Given the description of an element on the screen output the (x, y) to click on. 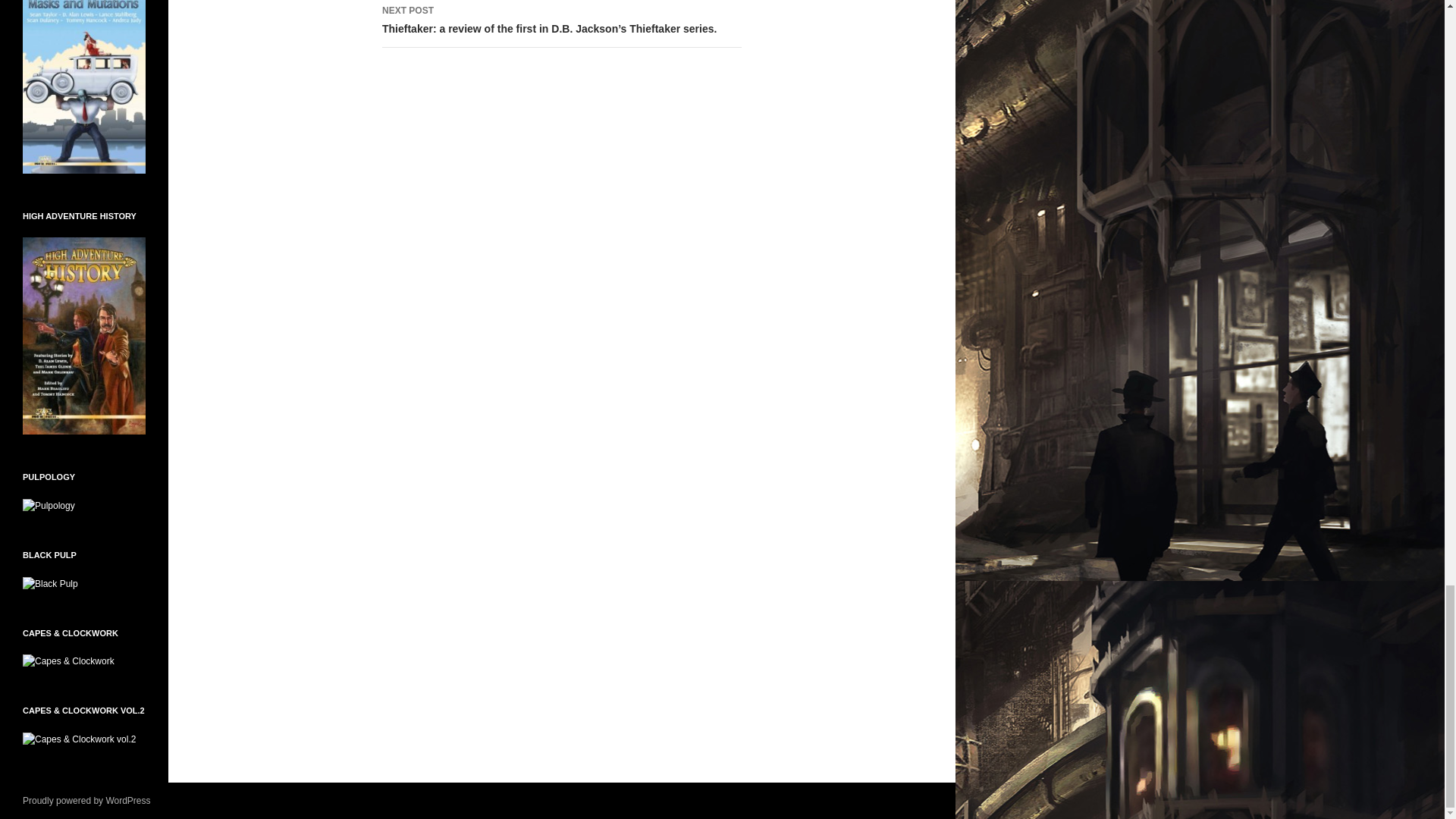
Pulpology (49, 504)
Proudly powered by WordPress (87, 800)
Black Pulp (50, 583)
High Adventure History (84, 335)
